Given the description of an element on the screen output the (x, y) to click on. 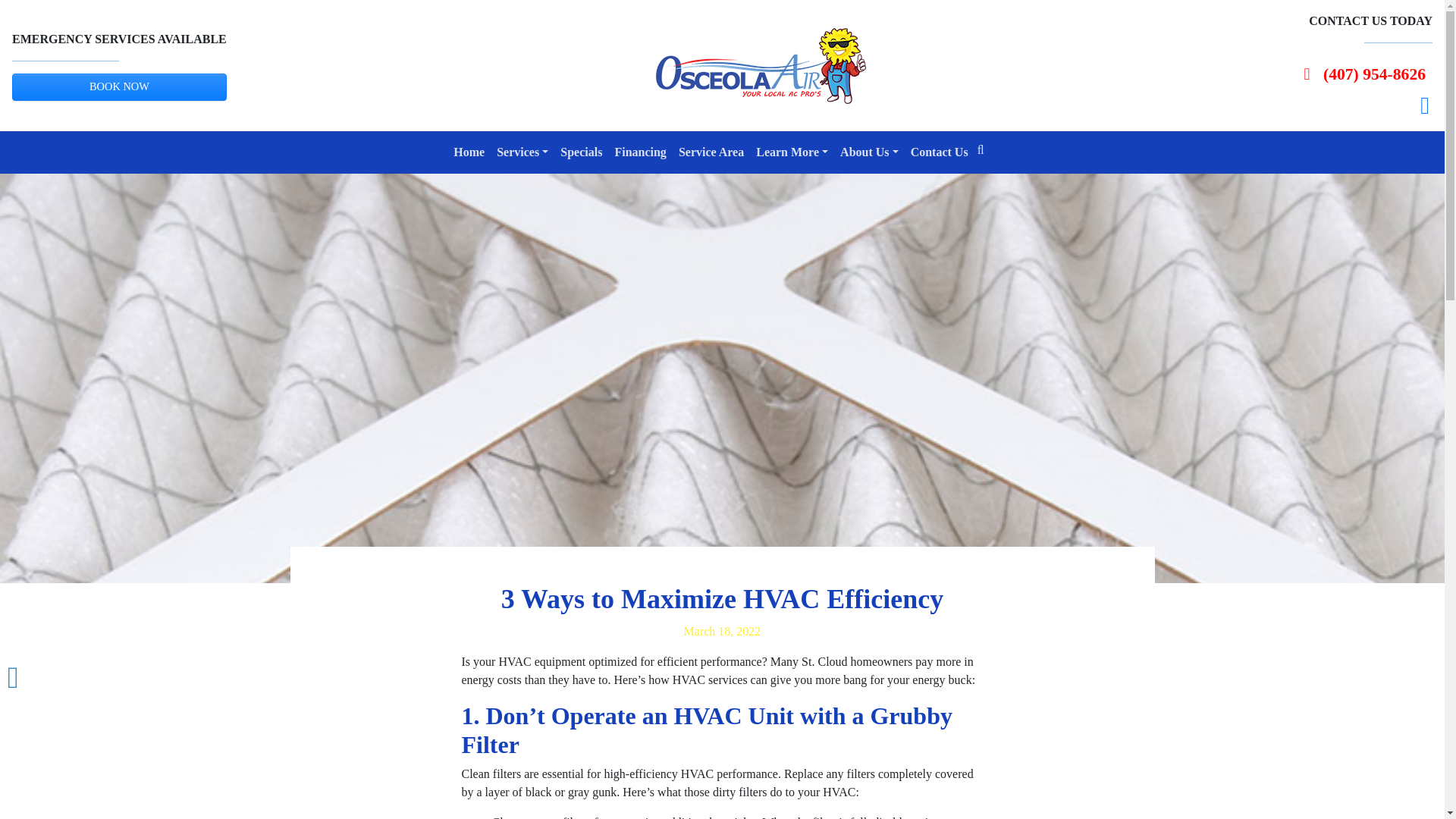
Specials (581, 152)
BOOK NOW (119, 86)
Service Area (710, 152)
Services (522, 152)
About Us (869, 152)
Contact Us (939, 152)
Learn More (791, 152)
Home (468, 152)
Financing (639, 152)
